Given the description of an element on the screen output the (x, y) to click on. 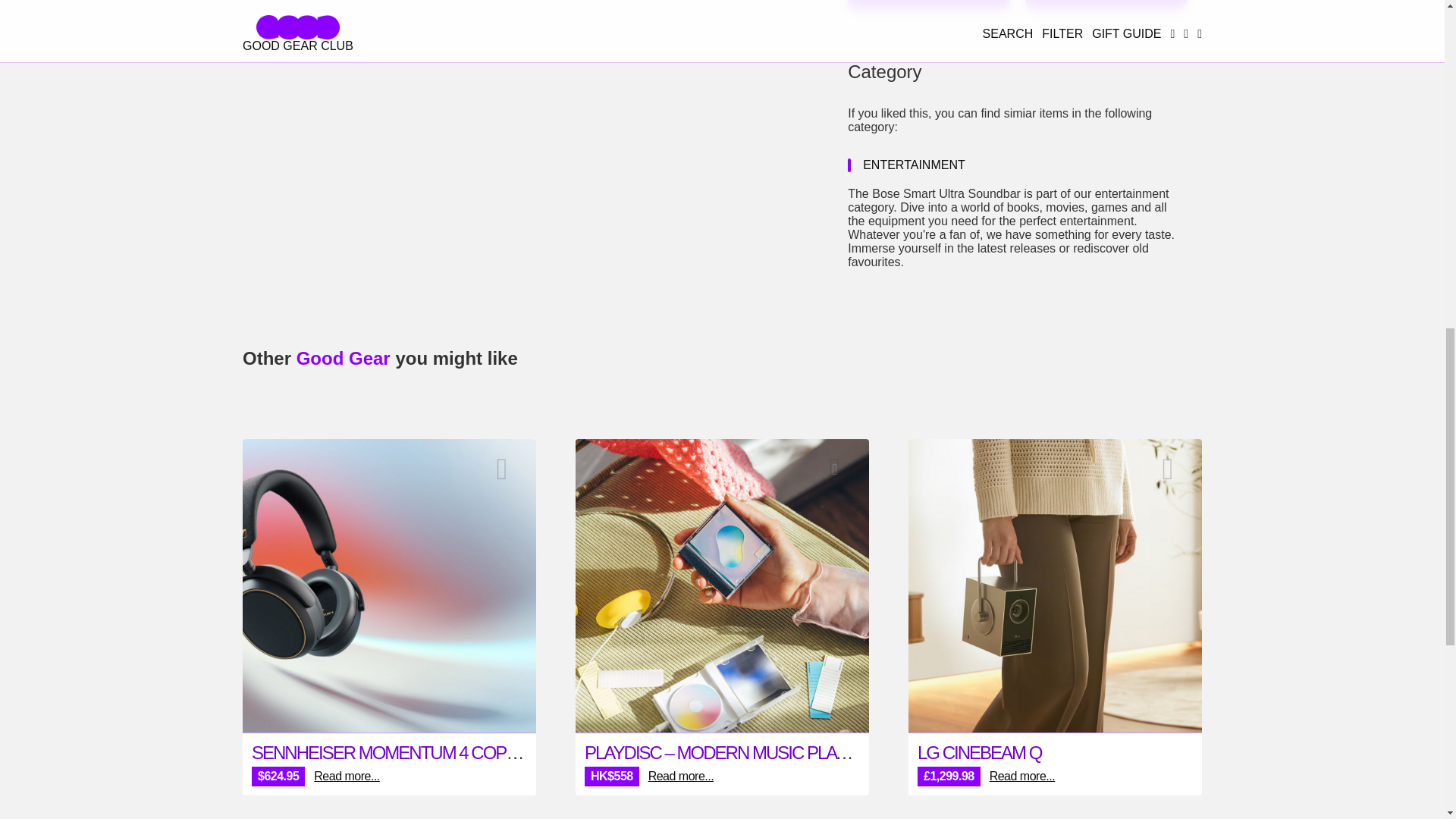
Entertainment (1167, 469)
Music (502, 469)
Music (834, 469)
Read more... (680, 775)
ENTERTAINMENT (914, 164)
SENNHEISER MOMENTUM 4 COPPER WIRELESS HEADPHONES (495, 752)
Read more... (1022, 775)
LG CINEBEAM Q (979, 752)
Read more... (346, 775)
